Given the description of an element on the screen output the (x, y) to click on. 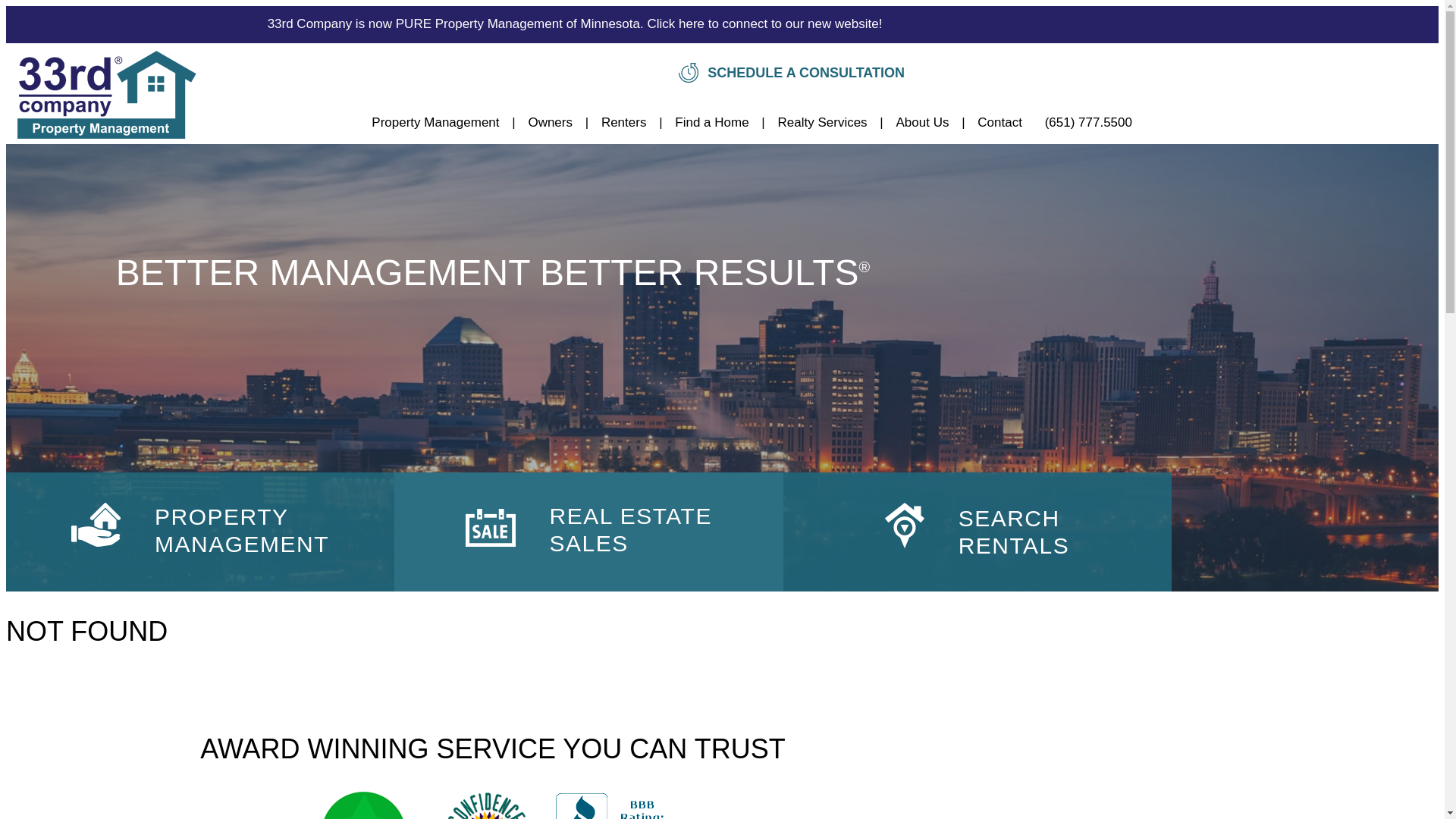
SCHEDULE A CONSULTATION Element type: text (791, 72)
Contact Element type: text (999, 121)
Click here to connect to our new website! Element type: text (763, 23)
REAL ESTATE
SALES Element type: text (588, 531)
SEARCH
RENTALS Element type: text (976, 531)
About Us Element type: text (922, 121)
Owners Element type: text (549, 121)
Realty Services Element type: text (822, 121)
(651) 777.5500 Element type: text (1088, 121)
Property Management Element type: text (434, 121)
Find a Home Element type: text (711, 121)
Renters Element type: text (623, 121)
PROPERTY
MANAGEMENT Element type: text (200, 531)
